Given the description of an element on the screen output the (x, y) to click on. 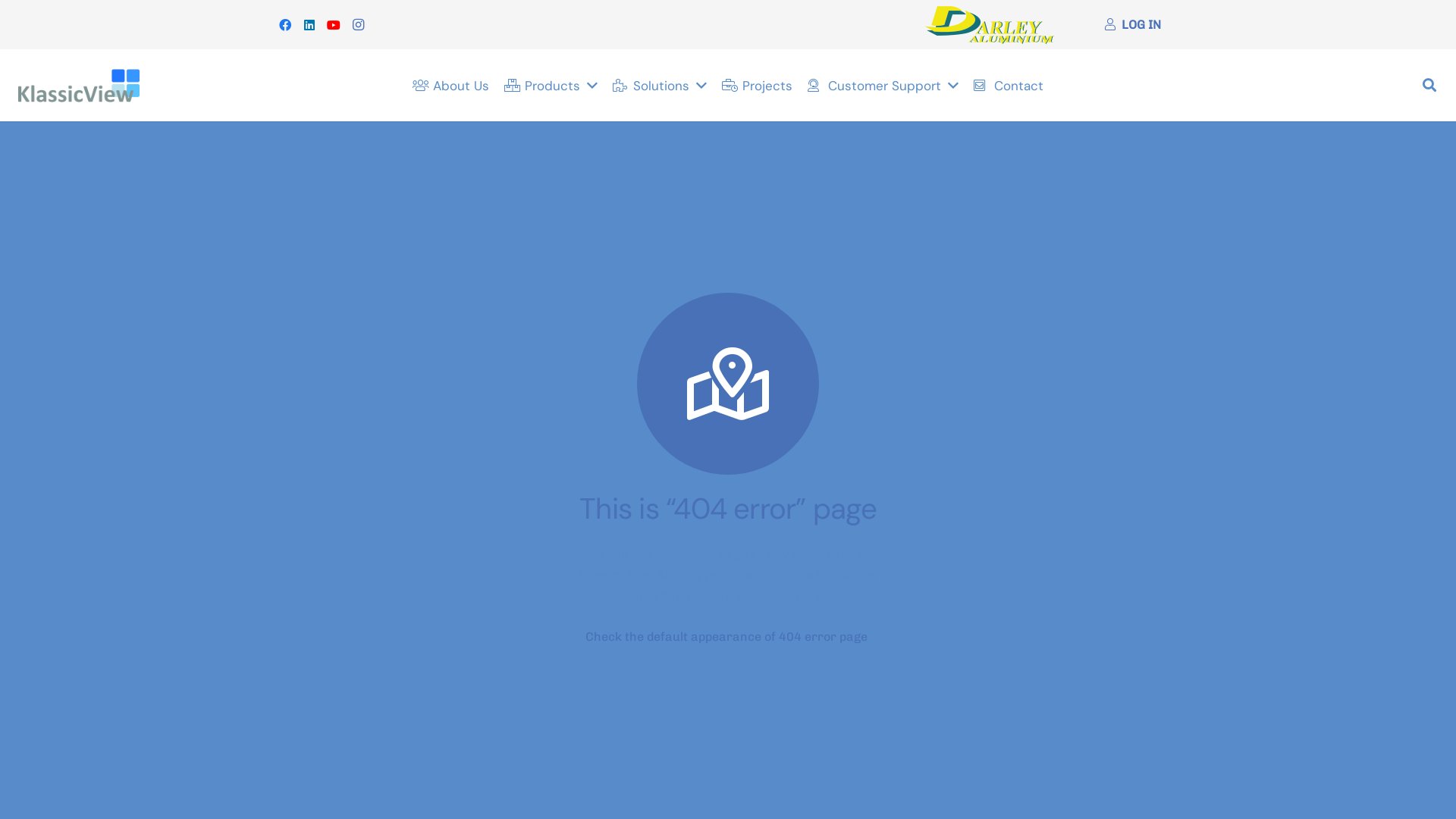
Instagram Element type: hover (357, 24)
Solutions Element type: text (659, 85)
LinkedIn Element type: hover (309, 24)
Products Element type: text (550, 85)
About Us Element type: text (450, 85)
Check the default appearance of 404 error page Element type: text (726, 636)
Contact Element type: text (1008, 85)
Facebook Element type: hover (285, 24)
LOG IN Element type: text (1132, 24)
Projects Element type: text (757, 85)
Customer Support Element type: text (883, 85)
YouTube Element type: hover (333, 24)
